Given the description of an element on the screen output the (x, y) to click on. 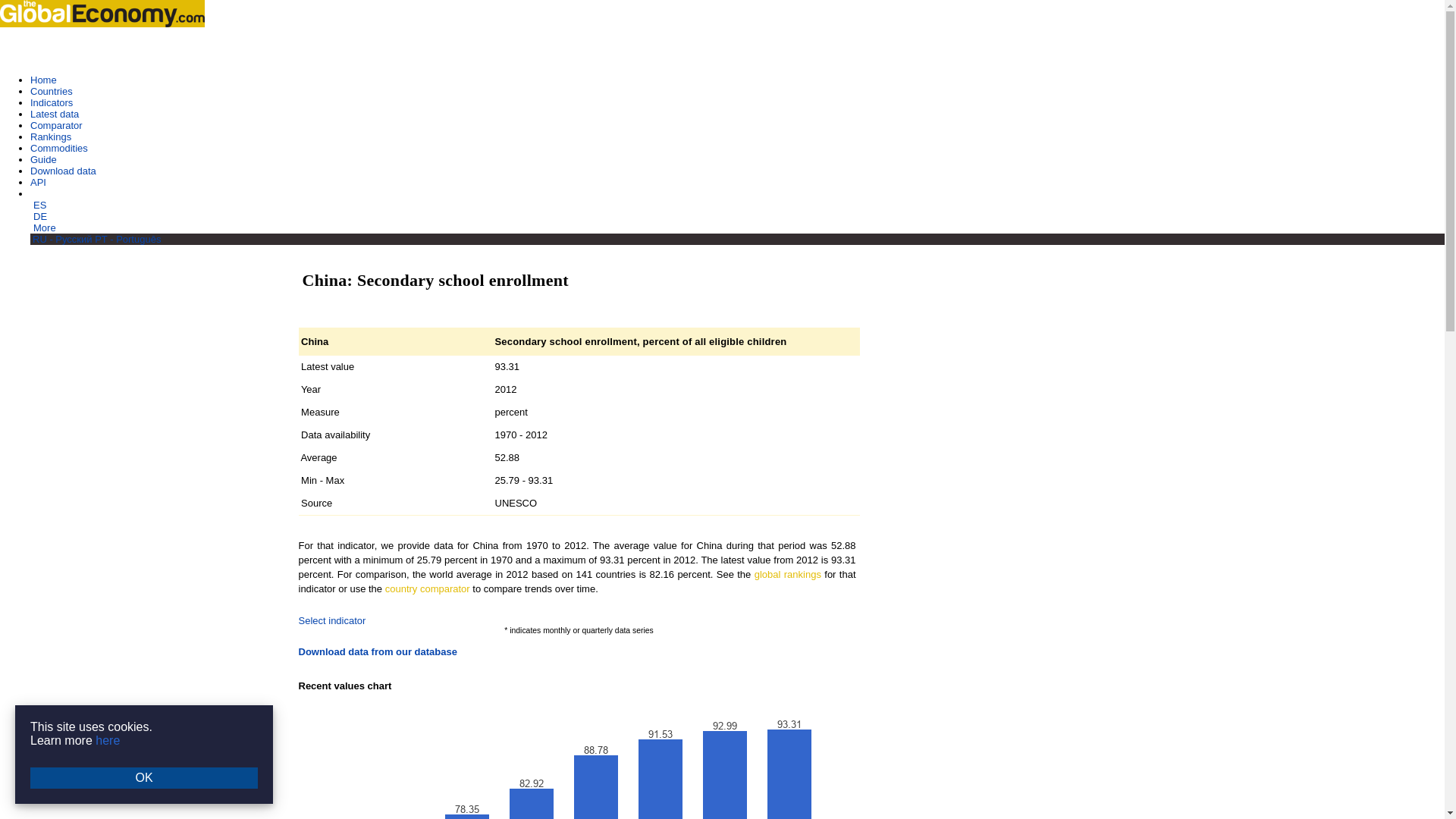
Rankings (50, 136)
Guide (43, 159)
country comparator (427, 588)
Countries (51, 91)
More (44, 227)
DE (39, 215)
Home (43, 79)
EN (38, 193)
Commodities (58, 147)
Download data from our database (377, 651)
ES (39, 204)
API (38, 182)
Download data (63, 170)
Indicators (51, 102)
Select indicator (332, 620)
